Given the description of an element on the screen output the (x, y) to click on. 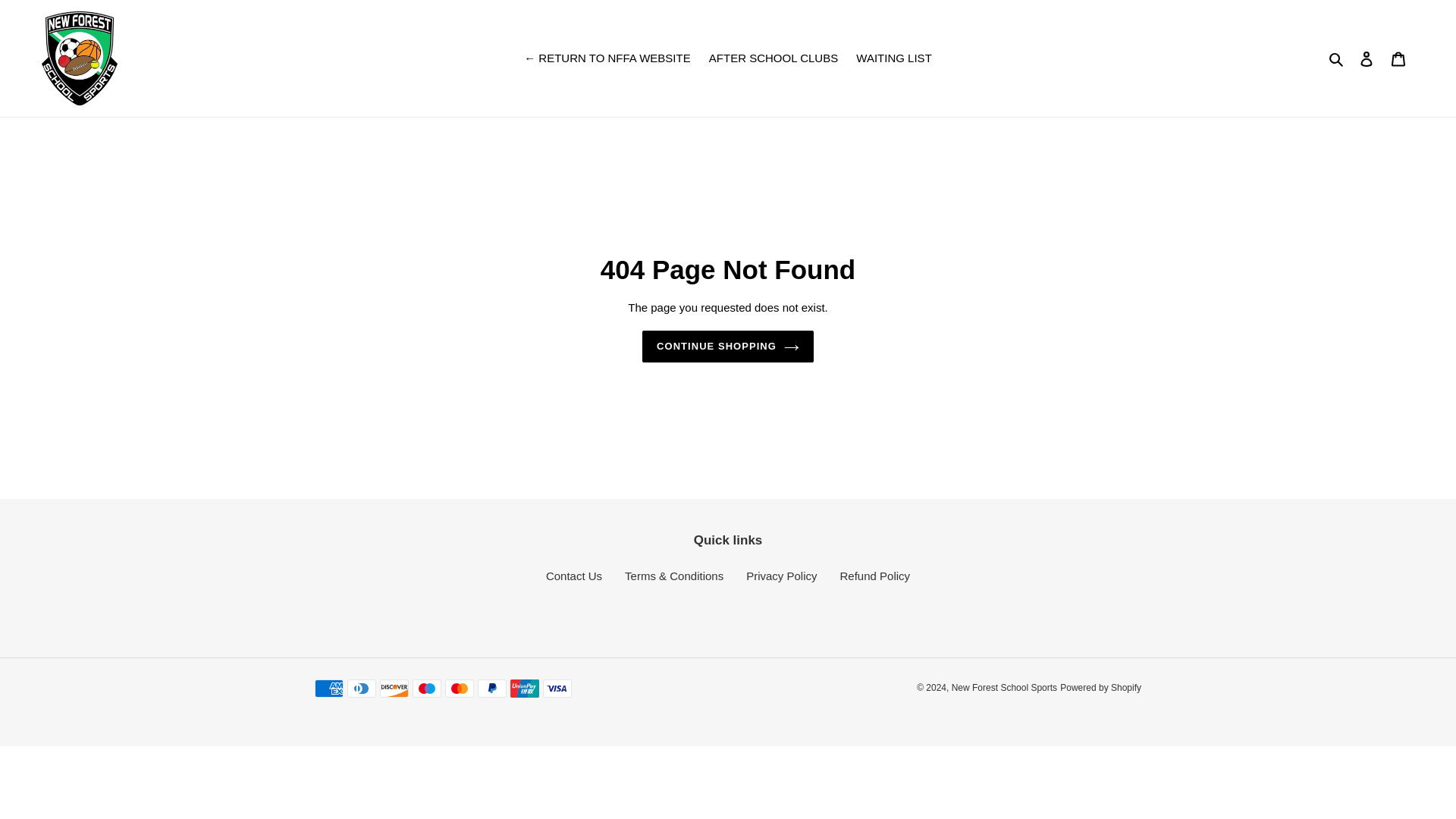
Cart (1397, 58)
Privacy Policy (780, 575)
WAITING LIST (893, 58)
AFTER SCHOOL CLUBS (773, 58)
Powered by Shopify (1100, 687)
Log in (1366, 58)
CONTINUE SHOPPING (727, 346)
Search (1337, 58)
New Forest School Sports (1004, 687)
Contact Us (574, 575)
